Given the description of an element on the screen output the (x, y) to click on. 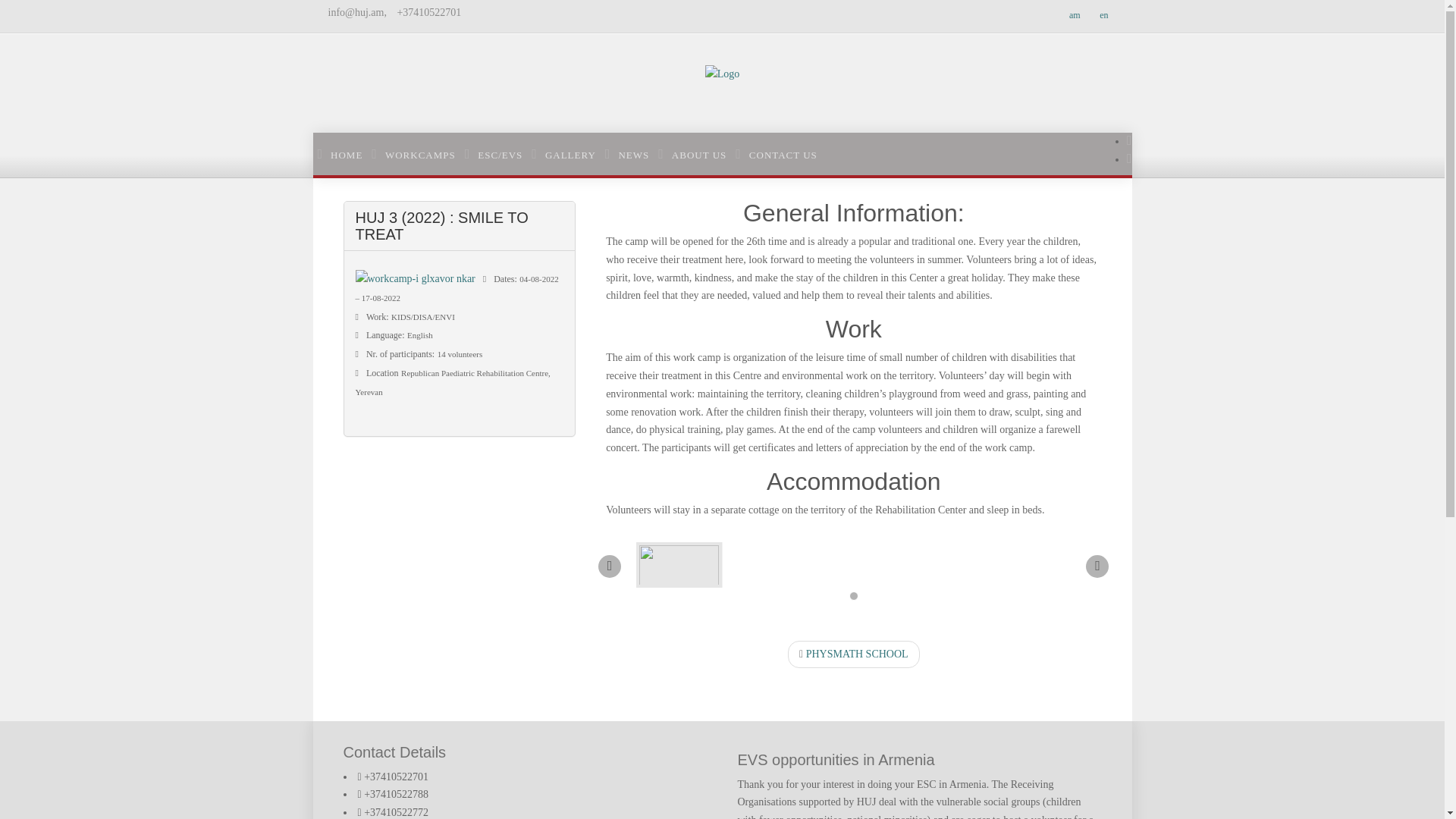
ABOUT US (691, 154)
PHYSMATH SCHOOL (853, 654)
am (1075, 15)
NEWS (626, 154)
en (1103, 15)
CONTACT US (776, 154)
HOME (339, 154)
